Given the description of an element on the screen output the (x, y) to click on. 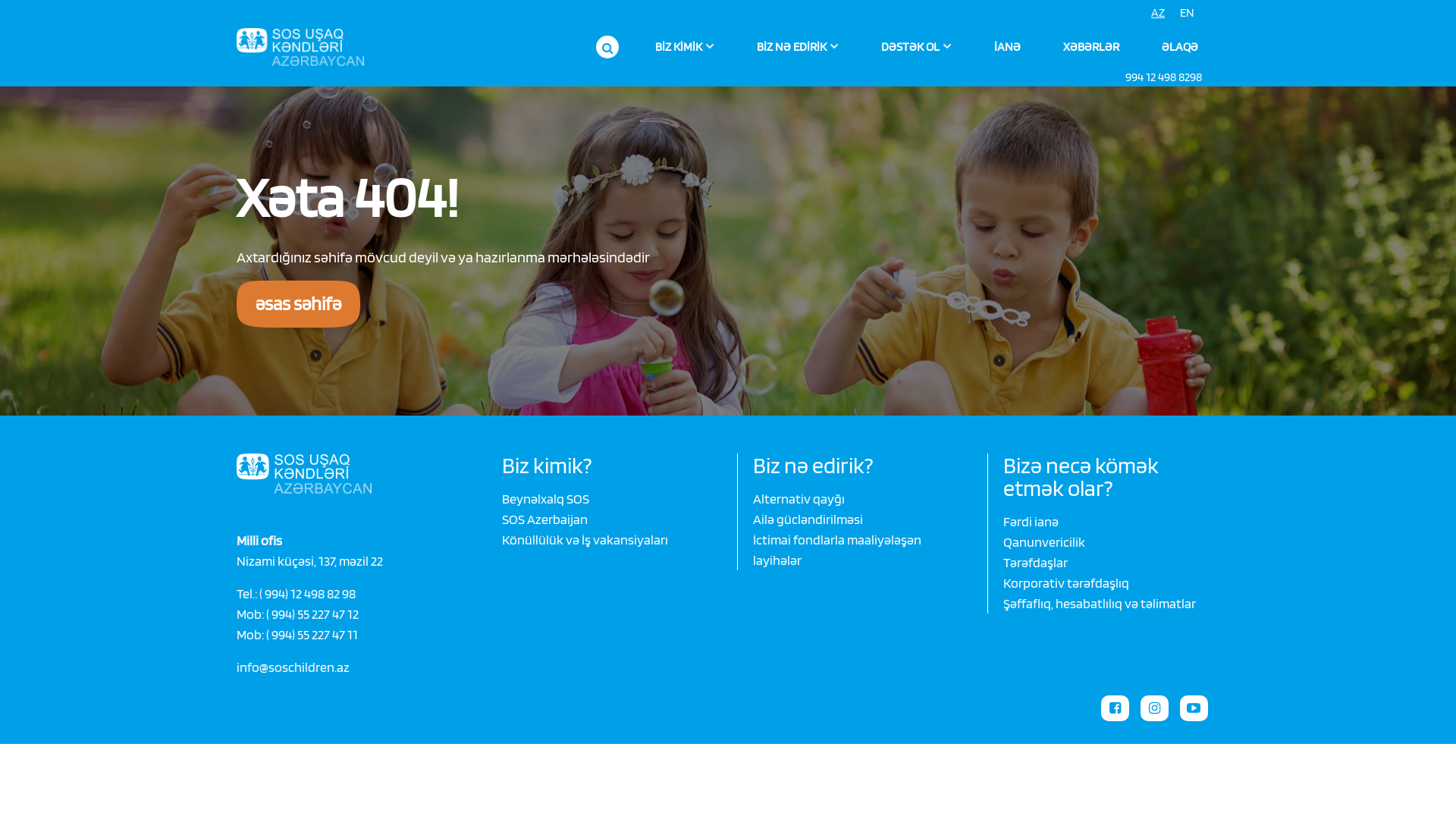
EN Element type: text (1186, 12)
AZ Element type: text (1157, 12)
Qanunvericilik Element type: text (1044, 541)
SOS Azerbaijan Element type: text (544, 519)
